Given the description of an element on the screen output the (x, y) to click on. 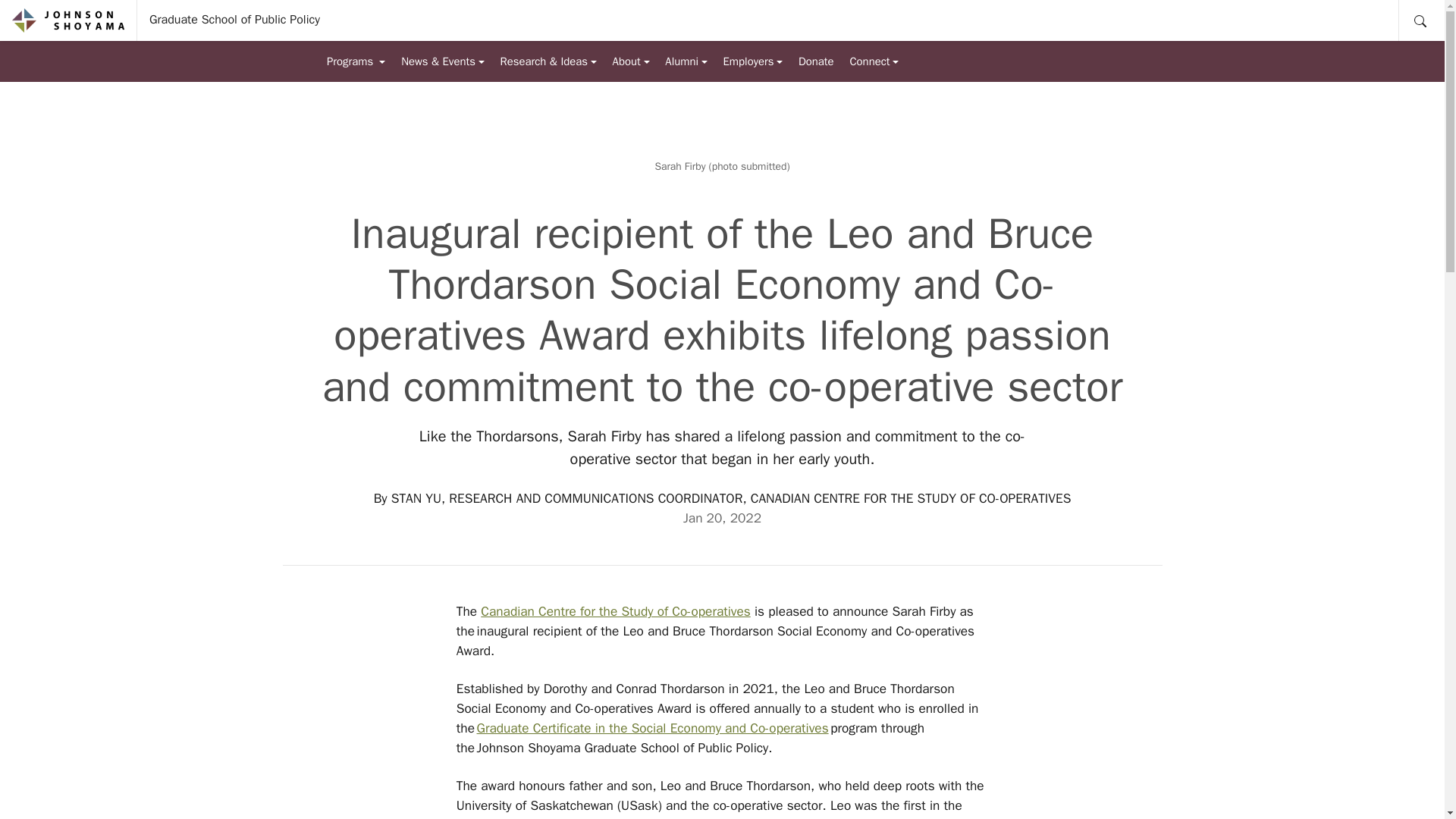
Programs (355, 60)
About (631, 60)
Graduate School of Public Policy (233, 20)
